Given the description of an element on the screen output the (x, y) to click on. 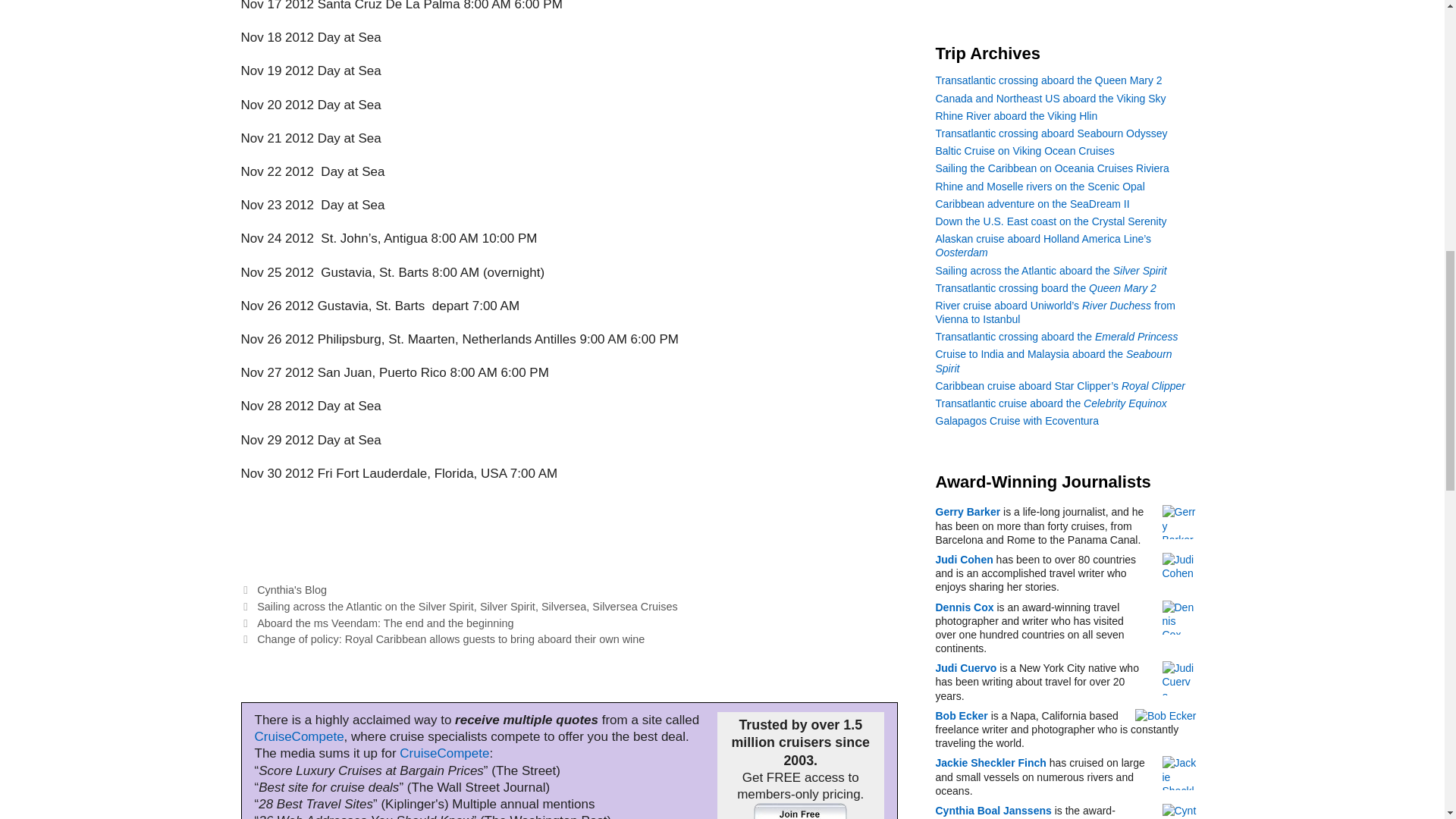
Bob Ecker (1165, 715)
Dennis Cox (1178, 617)
Judi Cuervo (1178, 677)
Cynthia Boal Janssens (1178, 811)
Jackie Sheckler Finch (1178, 772)
Judi Cohen (1178, 569)
Gerry Barker (1178, 521)
